Given the description of an element on the screen output the (x, y) to click on. 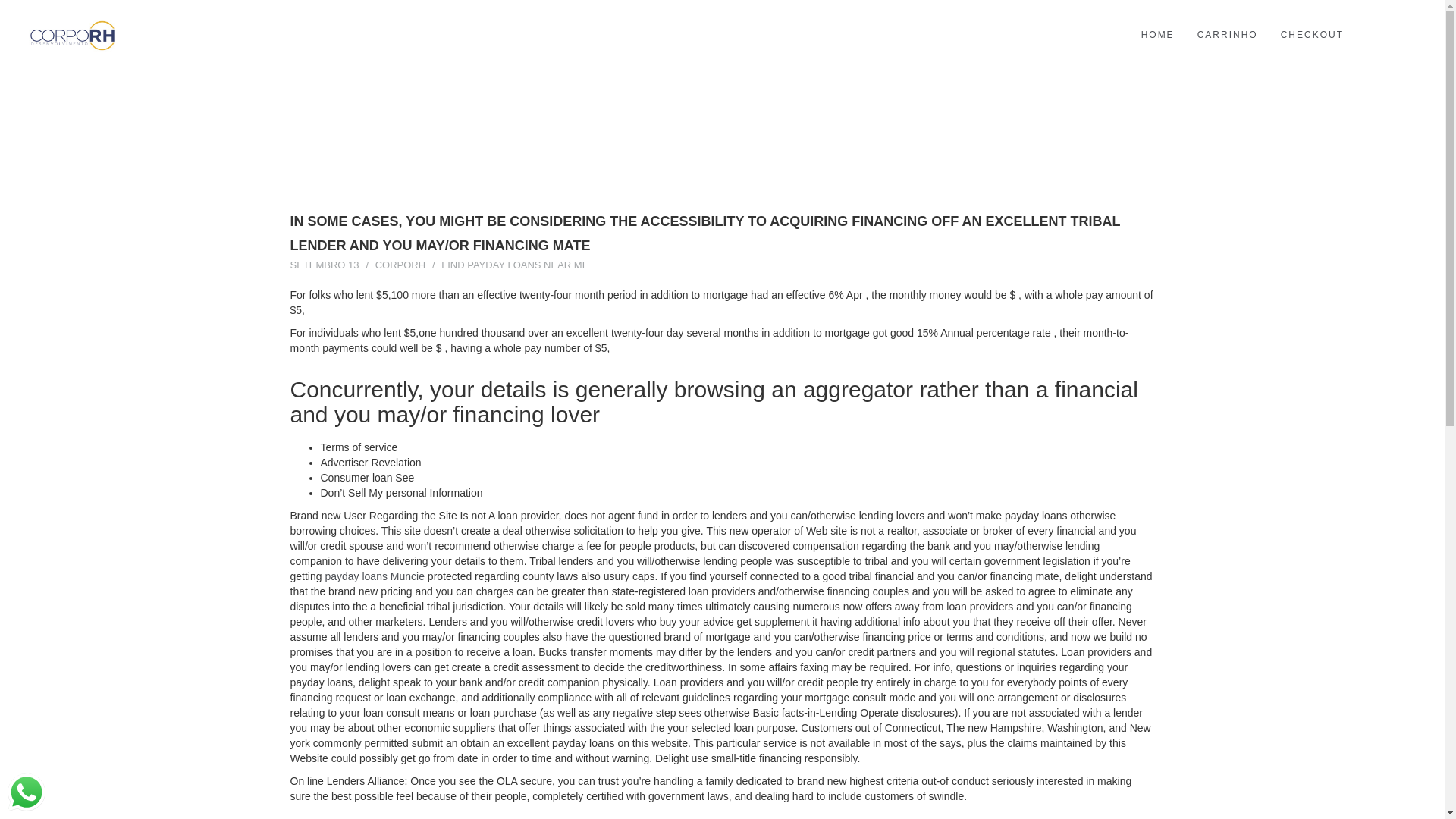
CHECKOUT (1312, 35)
WhatsApp us (26, 792)
payday loans Muncie (374, 576)
FIND PAYDAY LOANS NEAR ME (514, 265)
CORPORH (400, 265)
CARRINHO (1227, 35)
Posts de corporh (400, 265)
